Given the description of an element on the screen output the (x, y) to click on. 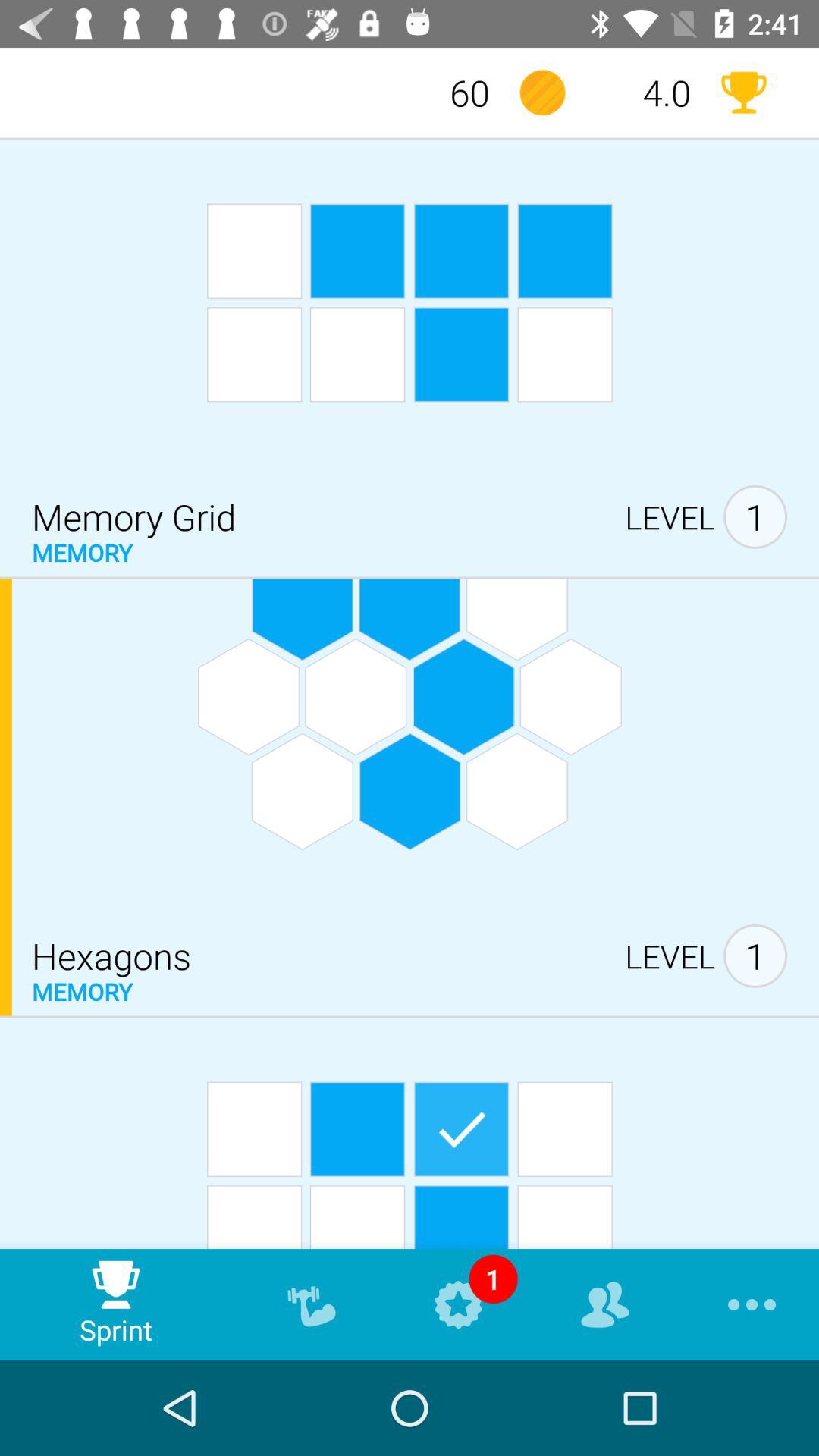
my trophies (743, 92)
